Given the description of an element on the screen output the (x, y) to click on. 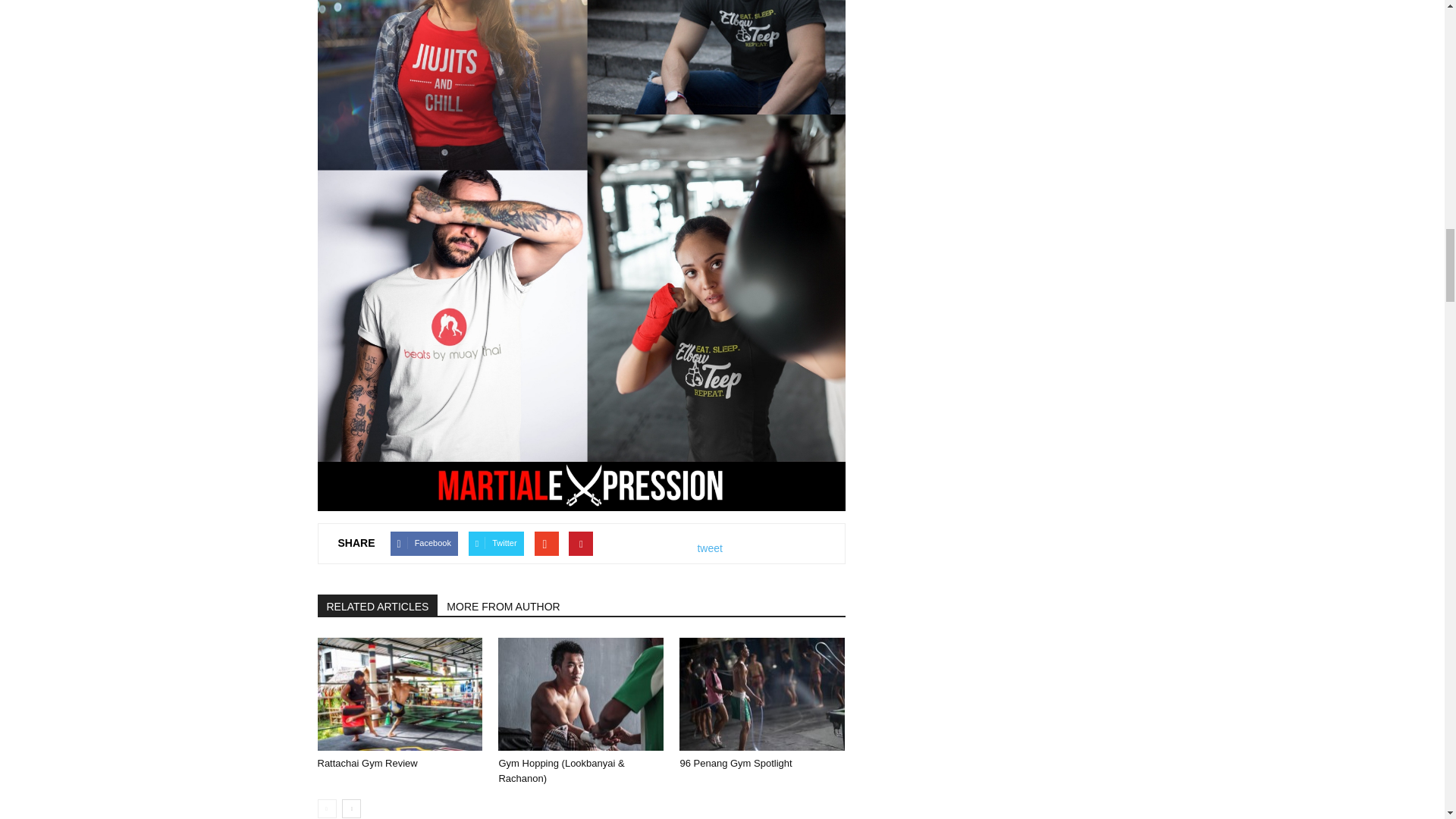
Twitter (496, 542)
Rattachai Gym Review (366, 763)
96 Penang Gym Spotlight (735, 763)
Facebook (424, 542)
96 Penang Gym Spotlight (761, 694)
Rattachai Gym Review (399, 694)
